Given the description of an element on the screen output the (x, y) to click on. 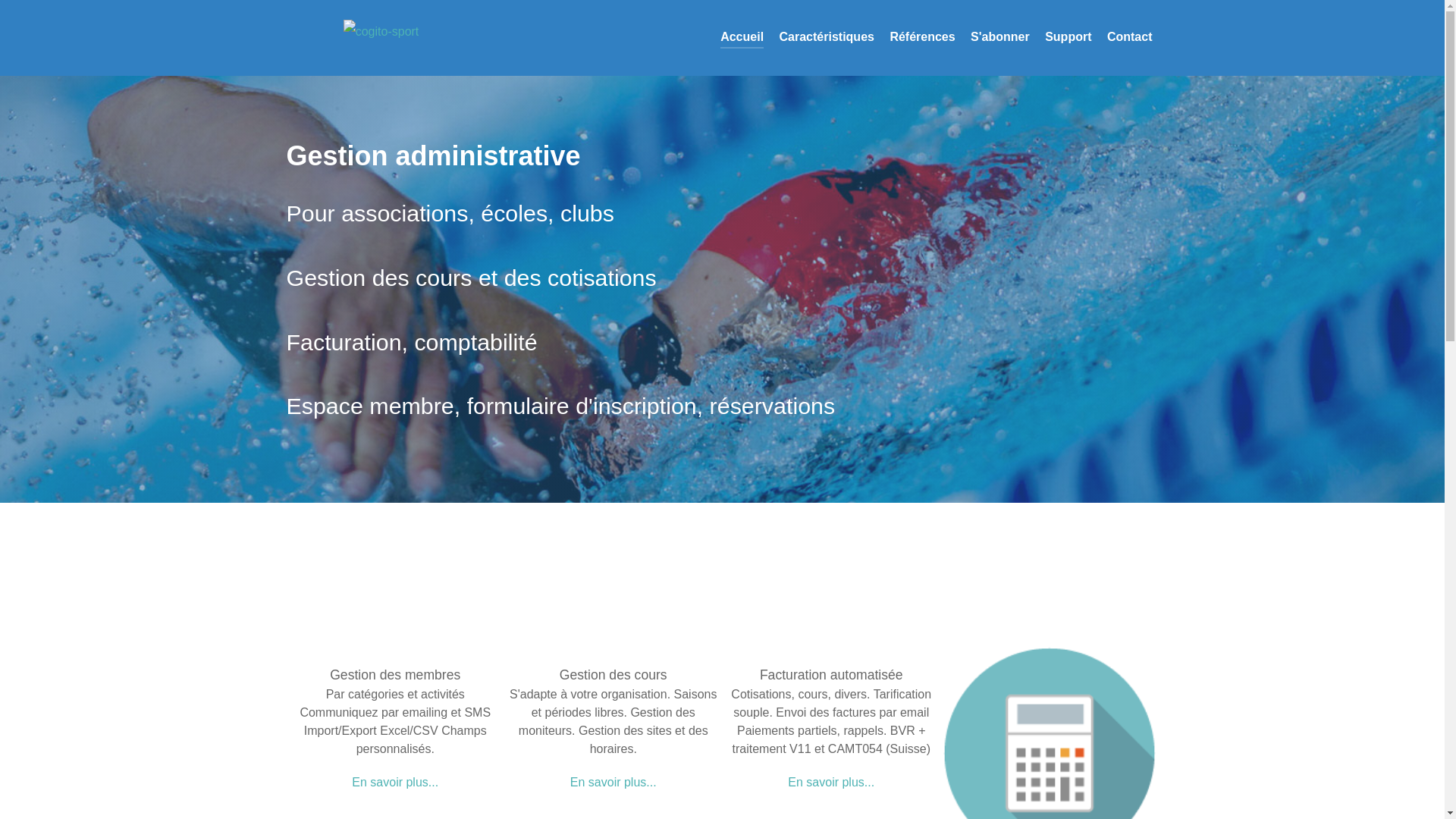
En savoir plus... Element type: text (394, 781)
En savoir plus... Element type: text (830, 781)
Support Element type: text (1067, 38)
Accueil Element type: text (741, 38)
S'abonner Element type: text (999, 38)
cogito-sport Element type: hover (381, 30)
En savoir plus... Element type: text (613, 781)
Contact Element type: text (1129, 38)
